Given the description of an element on the screen output the (x, y) to click on. 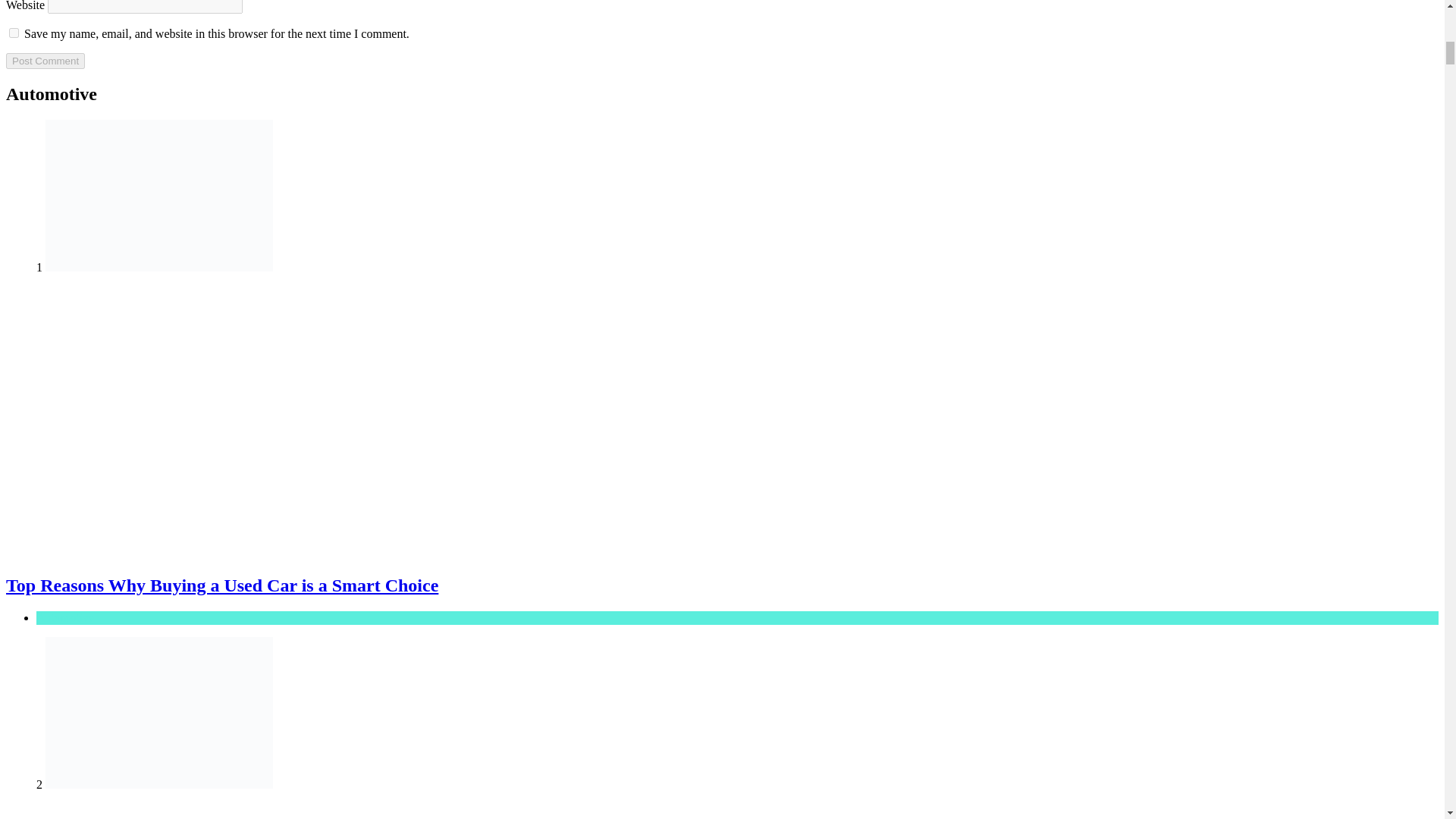
Post Comment (44, 60)
Automotive (65, 617)
Post Comment (44, 60)
yes (13, 32)
Top Reasons Why Buying a Used Car is a Smart Choice (221, 585)
